Given the description of an element on the screen output the (x, y) to click on. 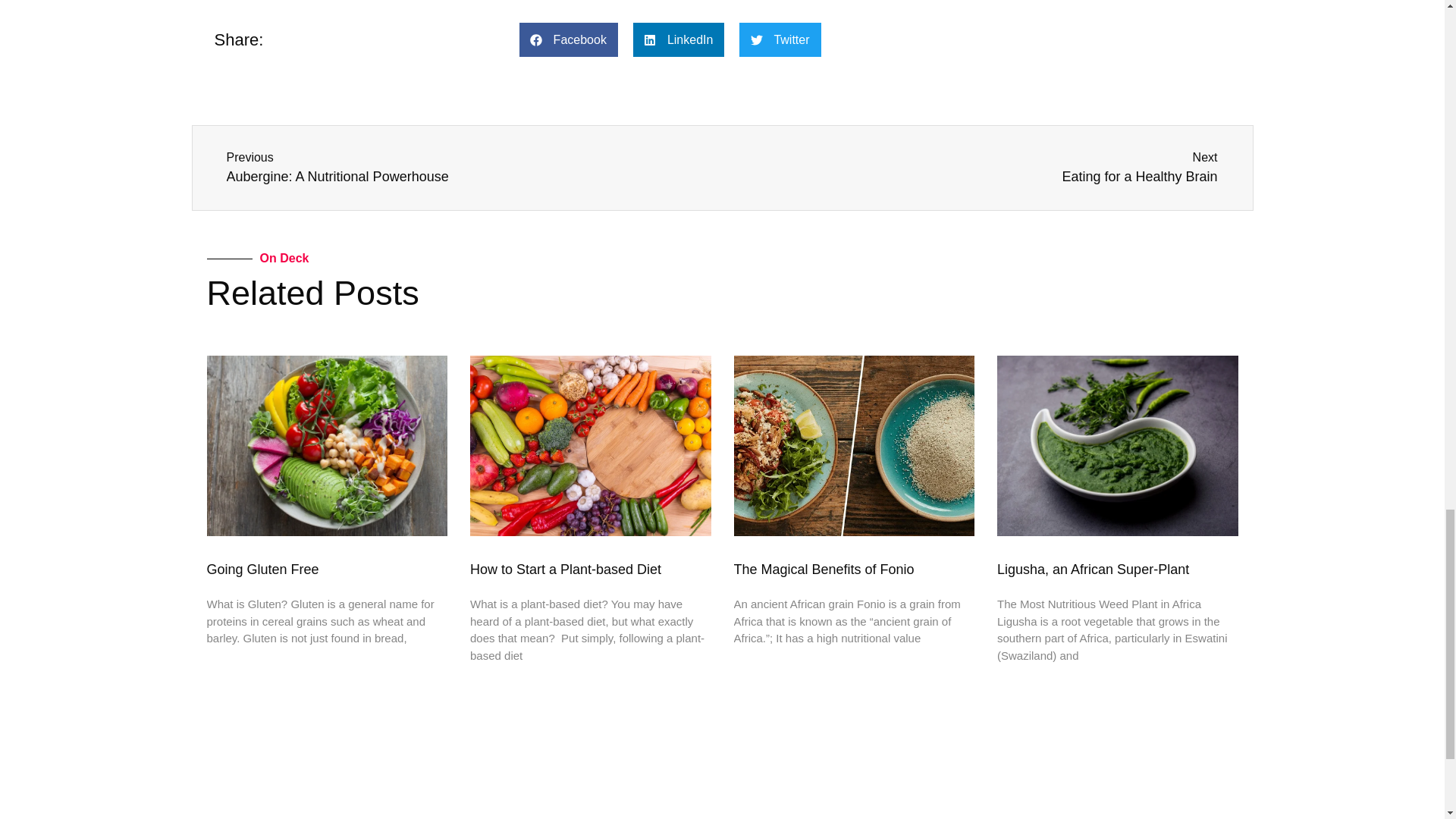
Going Gluten Free (262, 569)
The Magical Benefits of Fonio (823, 569)
How to Start a Plant-based Diet (565, 569)
Ligusha, an African Super-Plant (468, 167)
